Given the description of an element on the screen output the (x, y) to click on. 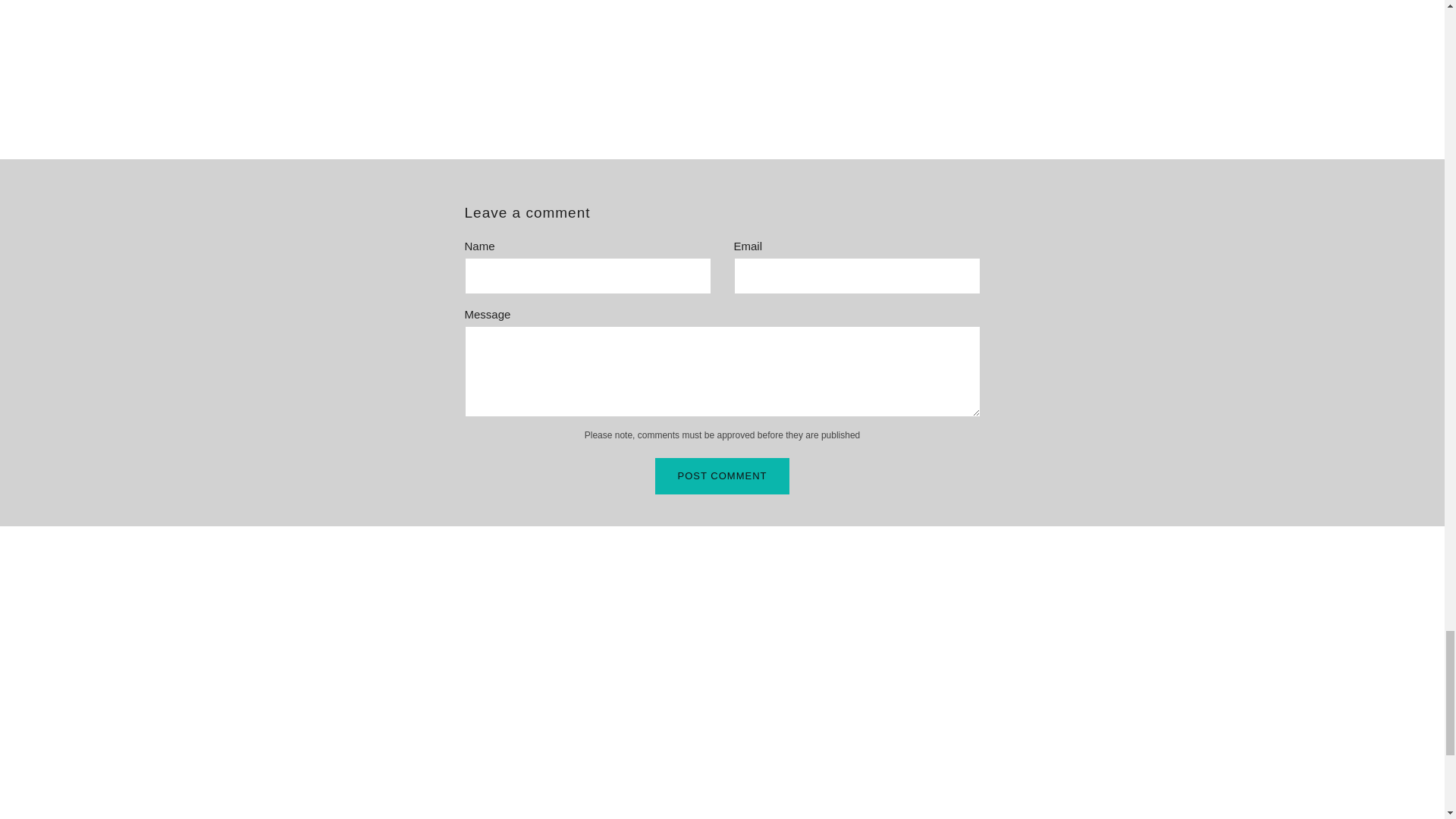
Post comment (722, 475)
Post comment (722, 475)
